Given the description of an element on the screen output the (x, y) to click on. 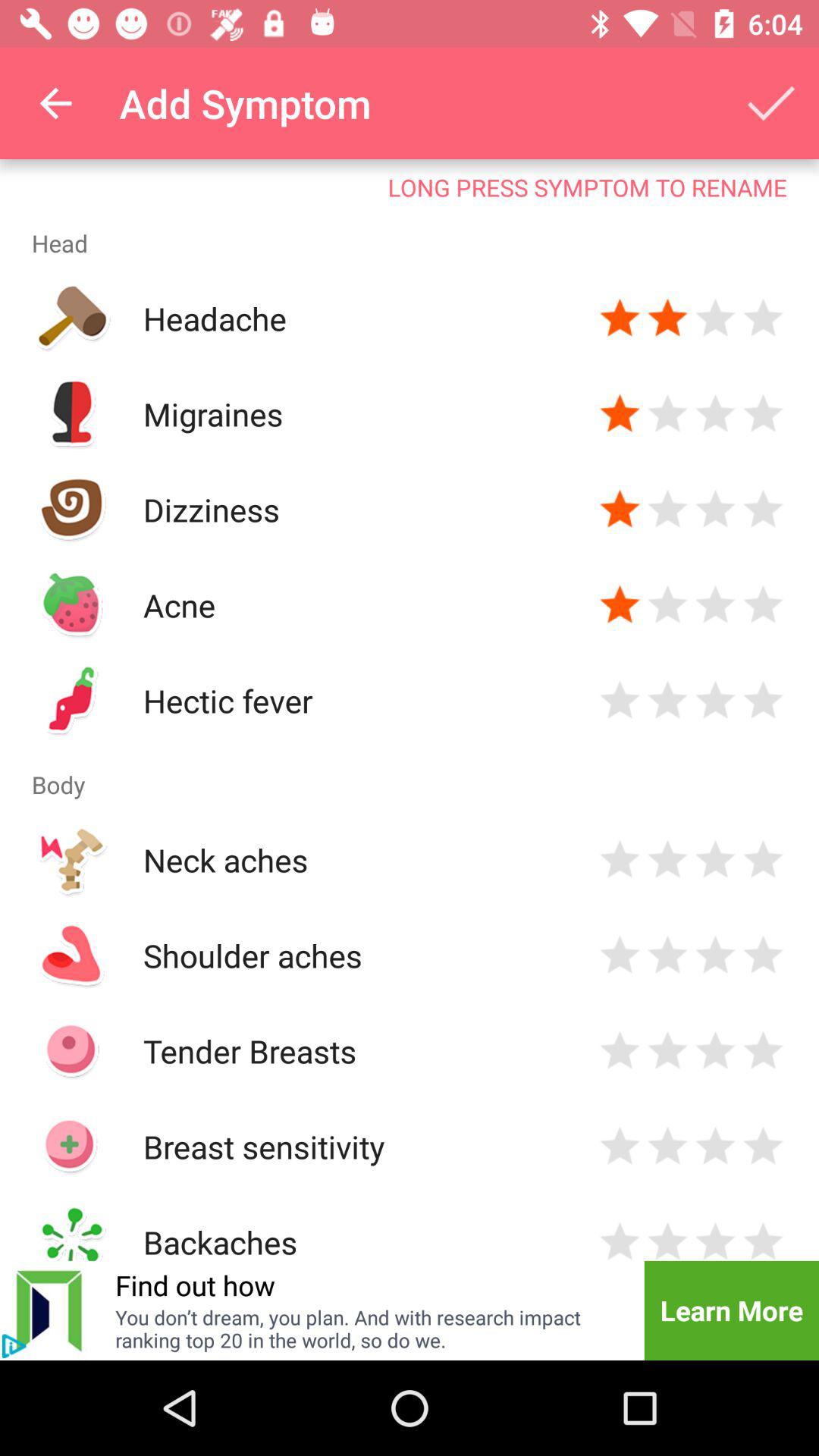
rate the level of symptom (715, 605)
